Given the description of an element on the screen output the (x, y) to click on. 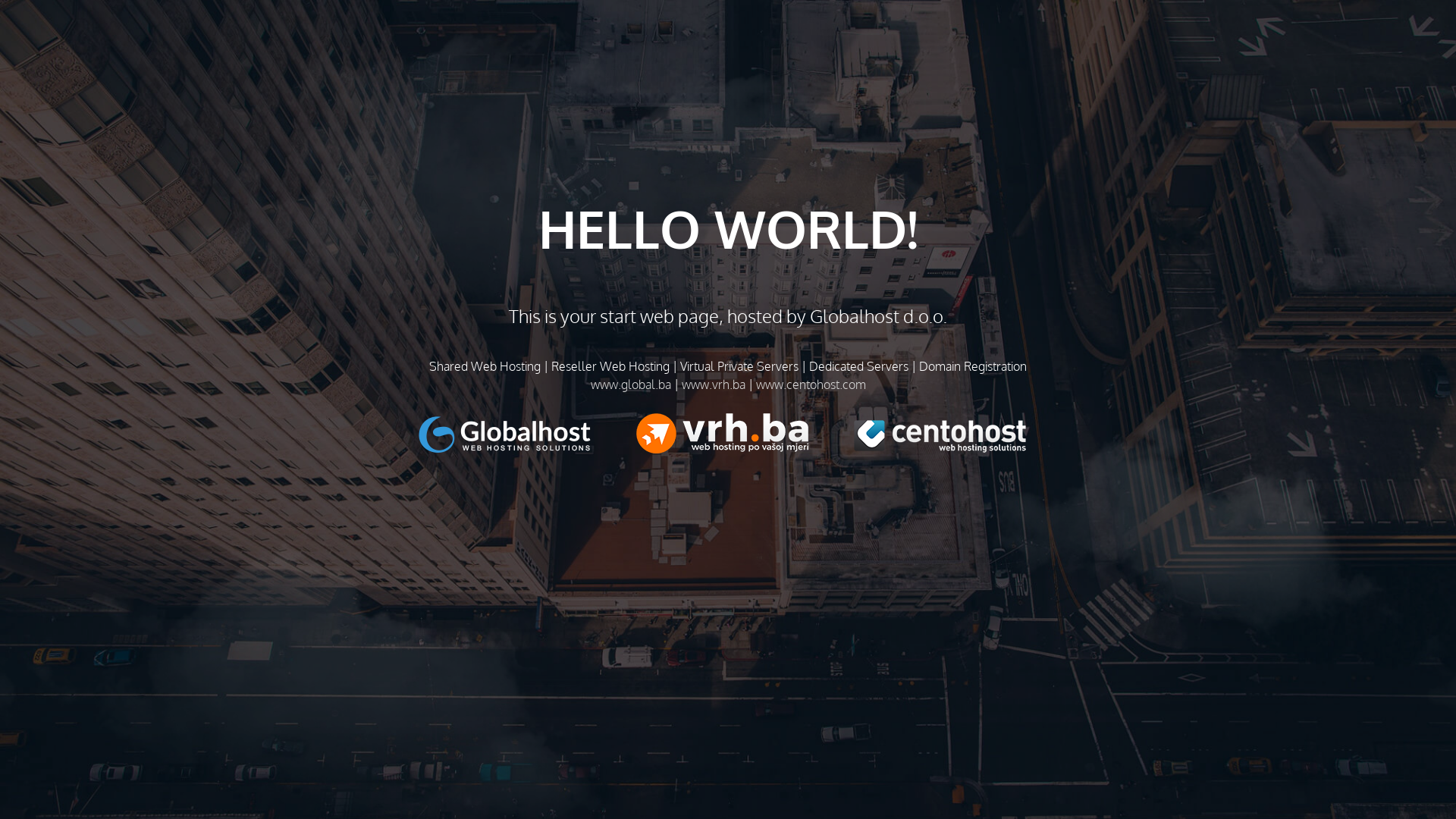
www.centohost.com Element type: text (810, 384)
                Element type: text (527, 433)
www.vrh.ba Element type: text (712, 384)
                Element type: text (744, 433)
www.global.ba Element type: text (629, 384)
